Given the description of an element on the screen output the (x, y) to click on. 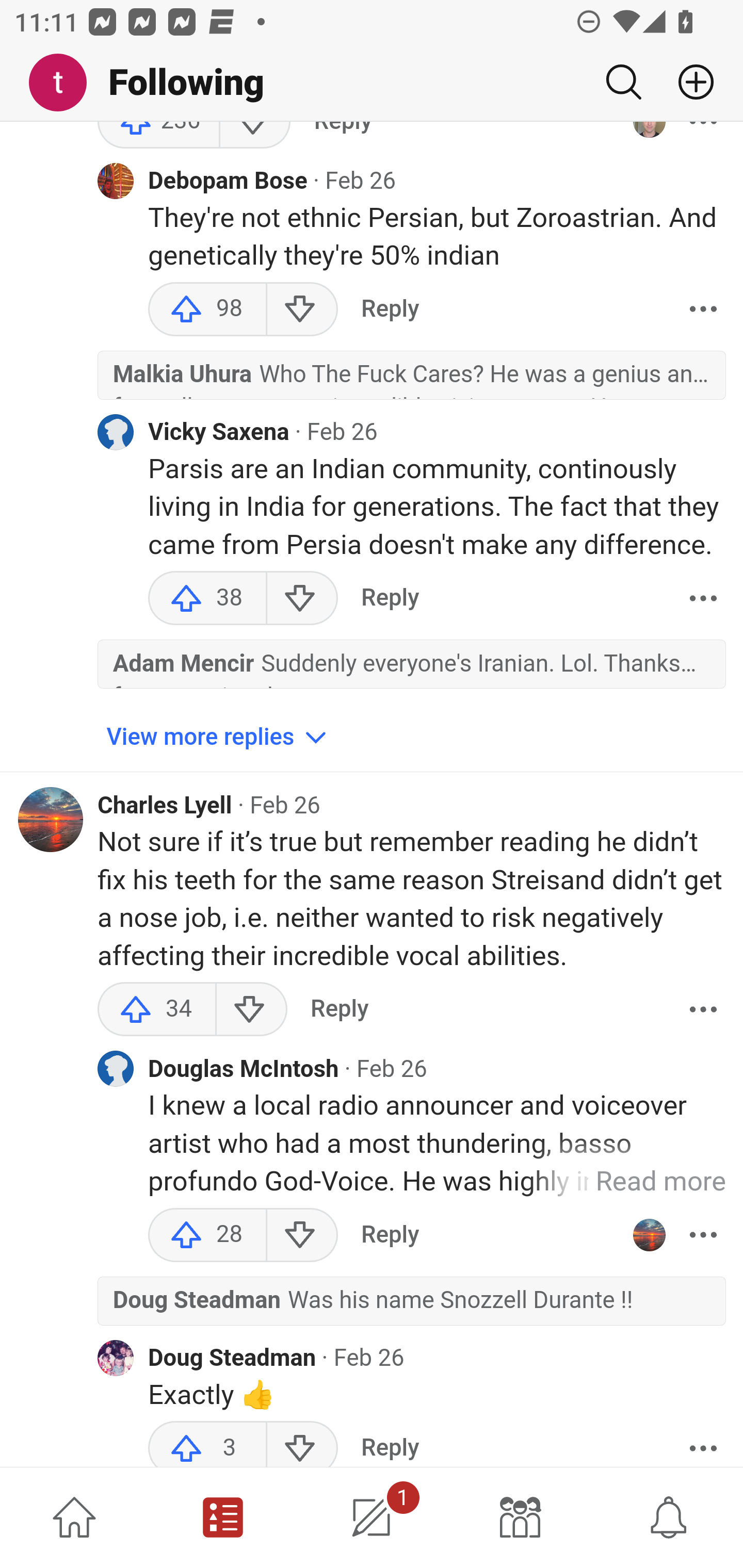
Me (64, 83)
Search (623, 82)
Add (688, 82)
Profile photo for Debopam Bose (115, 181)
Debopam Bose (227, 181)
98 upvotes (207, 310)
Downvote (302, 310)
Reply (389, 310)
More (703, 310)
Profile photo for Vicky Saxena (115, 432)
Vicky Saxena (218, 433)
38 upvotes (207, 598)
Downvote (302, 598)
Reply (389, 598)
More (703, 598)
View more replies (219, 737)
Profile photo for Charles Lyell (50, 820)
Charles Lyell (164, 806)
34 upvotes (156, 1010)
Downvote (250, 1010)
Reply (338, 1010)
More (703, 1010)
Profile photo for Douglas McIntosh (115, 1069)
Douglas McIntosh (243, 1069)
28 upvotes (207, 1235)
Downvote (302, 1235)
Reply (389, 1235)
Profile photo for Charles Lyell (648, 1235)
More (703, 1235)
Doug Steadman Was his name Snozzell Durante !! (412, 1309)
Profile photo for Doug Steadman (115, 1359)
Doug Steadman (232, 1360)
3 upvotes (207, 1445)
Downvote (302, 1445)
Reply (389, 1445)
More (703, 1445)
1 (371, 1517)
